Given the description of an element on the screen output the (x, y) to click on. 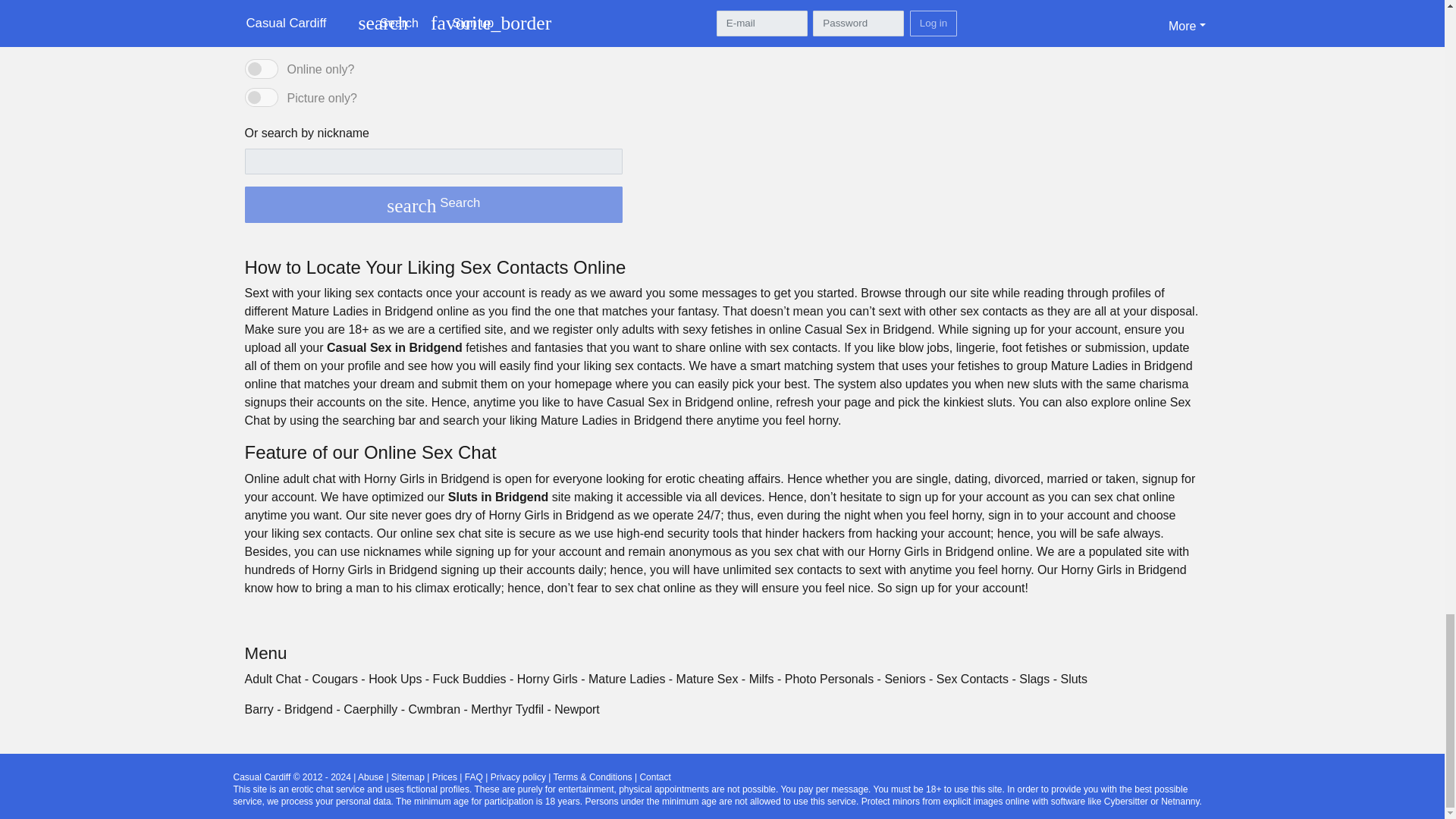
1 (261, 97)
search Search (433, 204)
1 (261, 68)
